Given the description of an element on the screen output the (x, y) to click on. 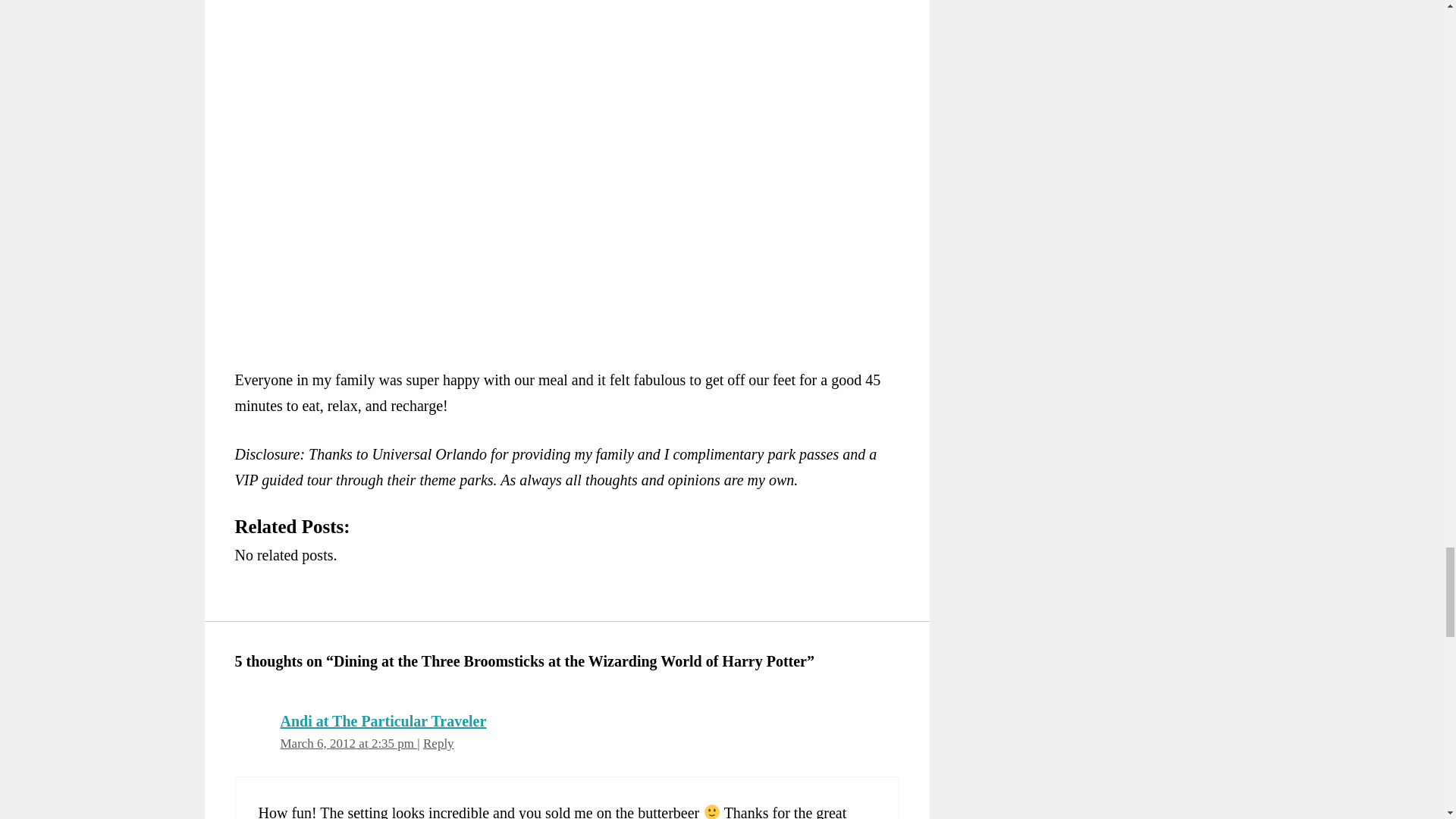
Reply (438, 743)
Andi at The Particular Traveler (383, 720)
March 6, 2012 at 2:35 pm (349, 743)
